Given the description of an element on the screen output the (x, y) to click on. 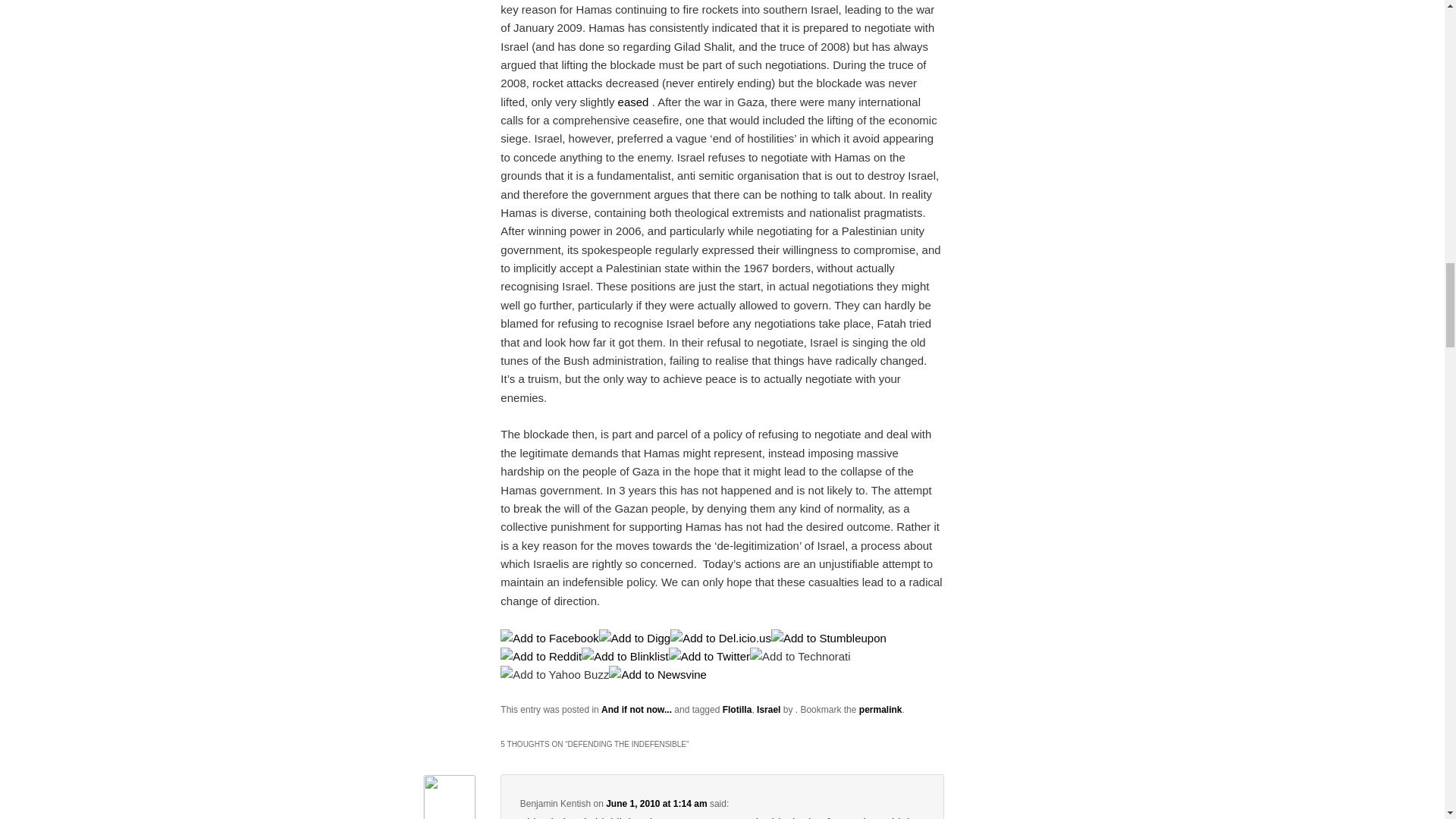
Israel (768, 709)
Add to Digg (633, 637)
And if not now... (636, 709)
Add to Blinklist (624, 656)
Flotilla (737, 709)
June 1, 2010 at 1:14 am (655, 803)
Add to Twitter (708, 656)
Add to Reddit (540, 656)
Permalink to Defending the Indefensible (880, 709)
permalink (880, 709)
Add to Facebook (549, 637)
eased (633, 101)
Add to Del.icio.us (720, 637)
Add to Stumbleupon (828, 637)
Add to Newsvine (657, 674)
